Given the description of an element on the screen output the (x, y) to click on. 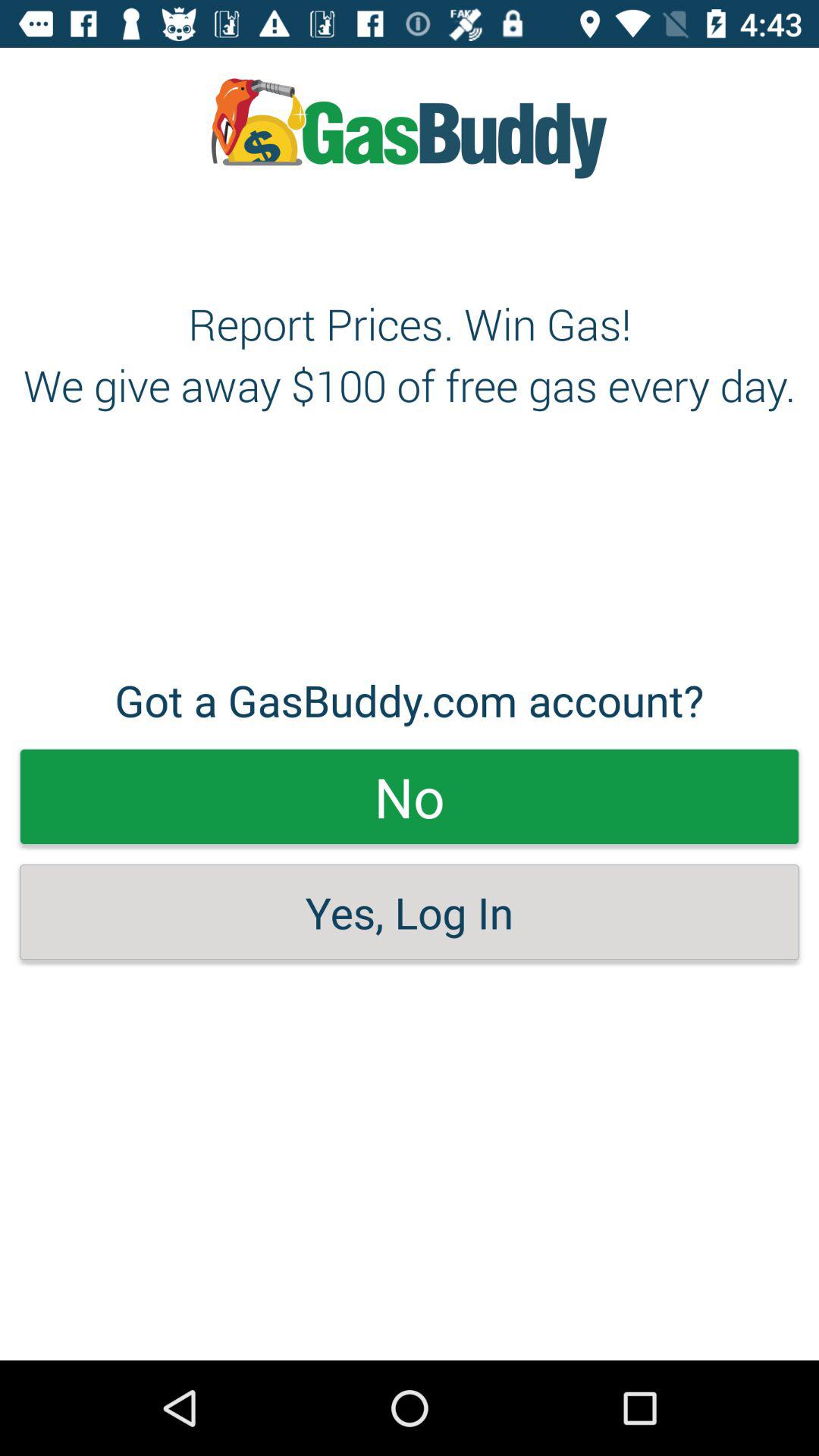
open icon above the yes, log in item (409, 796)
